Given the description of an element on the screen output the (x, y) to click on. 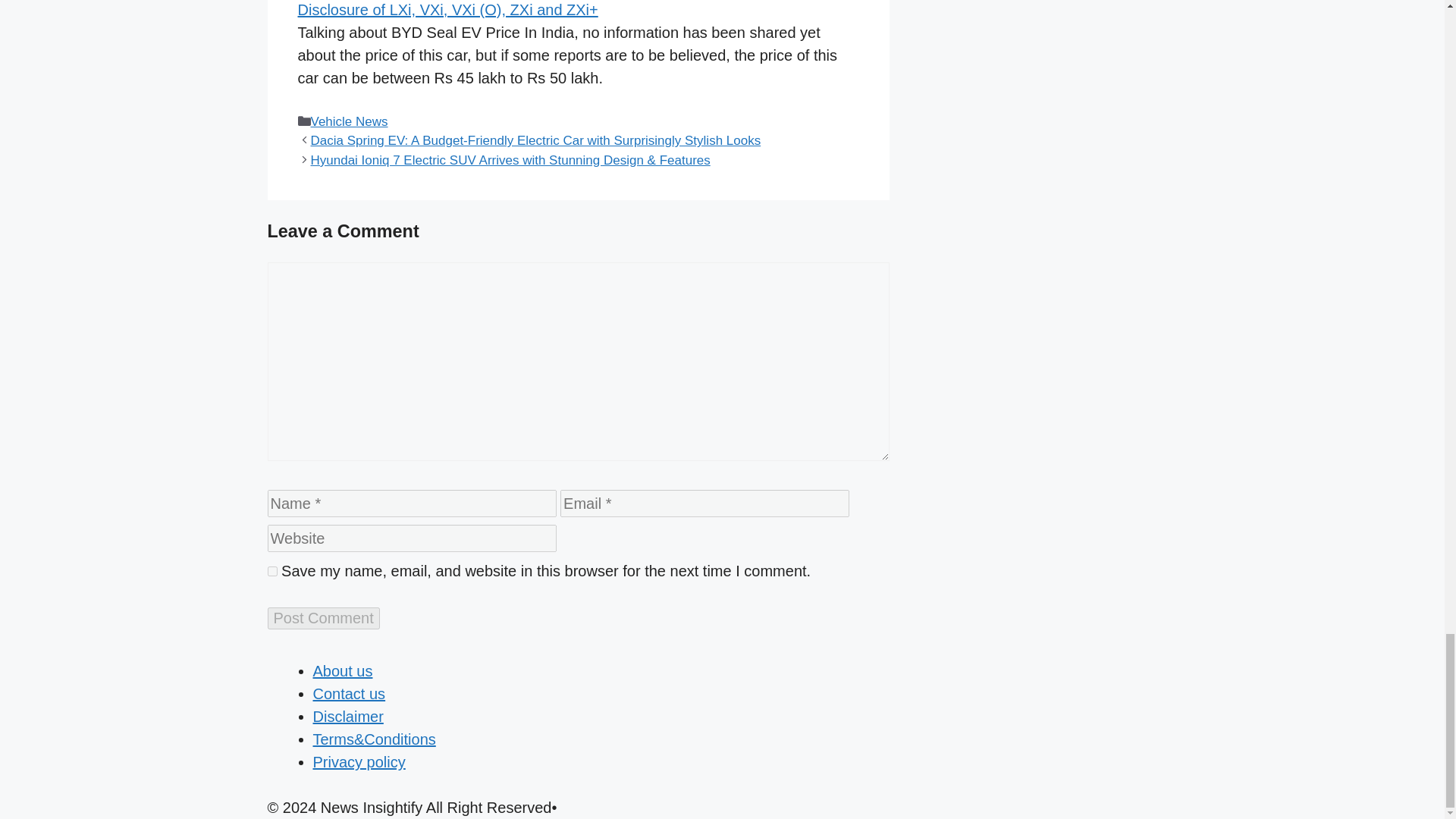
Post Comment (322, 618)
yes (271, 571)
Vehicle News (349, 121)
